Given the description of an element on the screen output the (x, y) to click on. 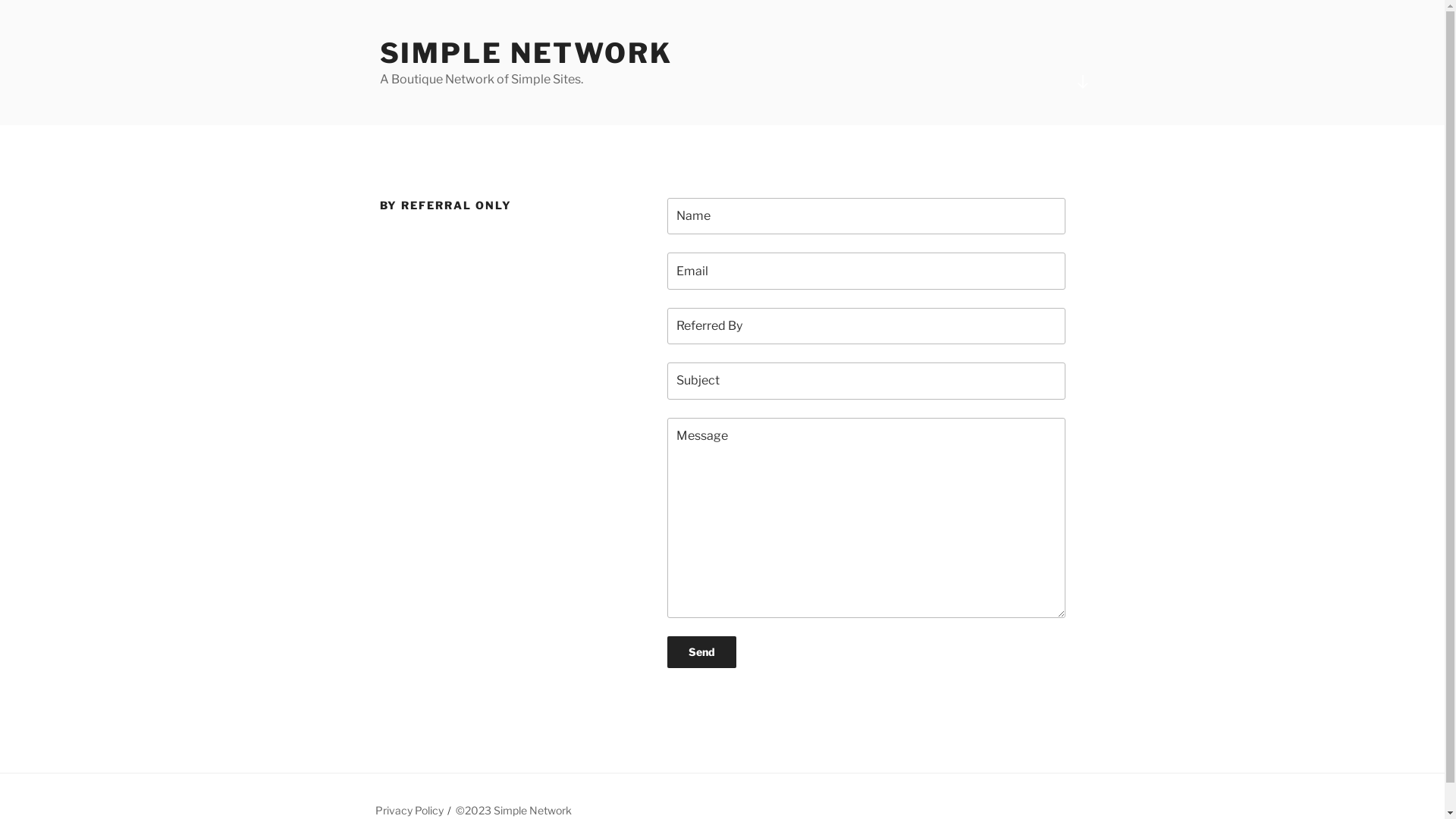
Privacy Policy Element type: text (408, 809)
Send Element type: text (701, 652)
SIMPLE NETWORK Element type: text (525, 52)
Scroll down to content Element type: text (1082, 81)
